Given the description of an element on the screen output the (x, y) to click on. 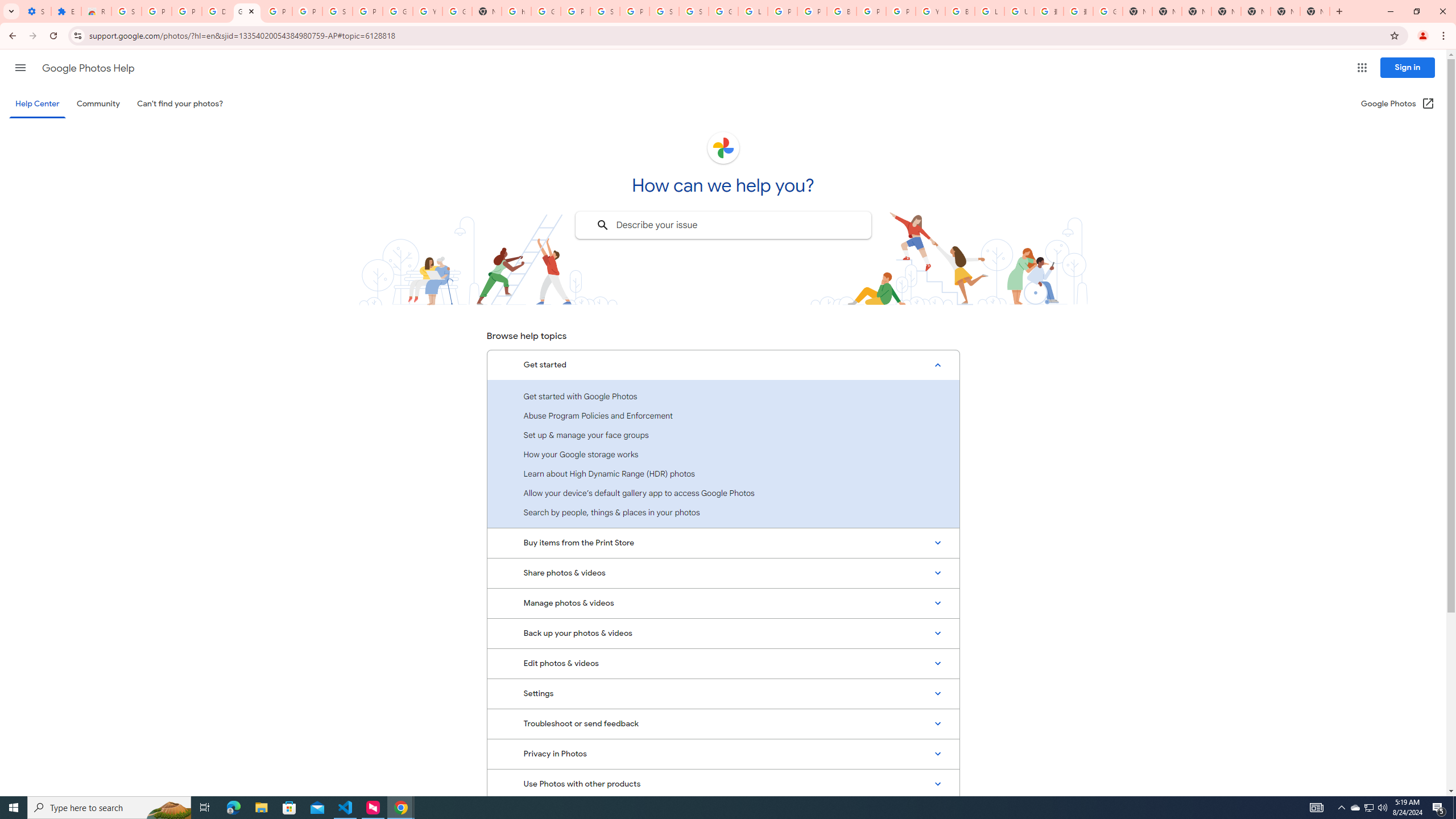
How your Google storage works (722, 454)
Google Account (397, 11)
Search by people, things & places in your photos (722, 512)
Back up your photos & videos (722, 633)
Can't find your photos? (180, 103)
https://scholar.google.com/ (515, 11)
